Given the description of an element on the screen output the (x, y) to click on. 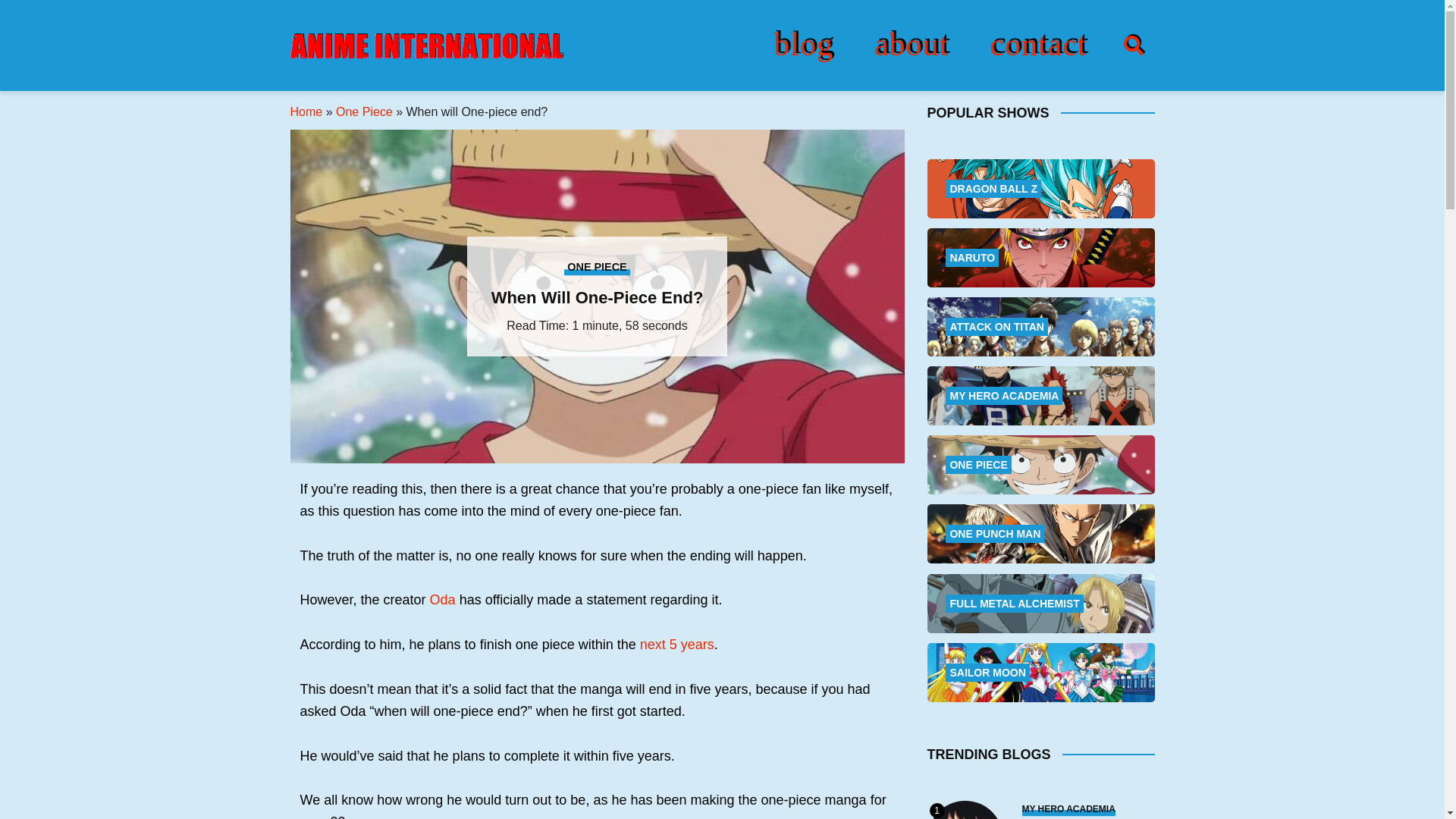
about (911, 44)
contact (1037, 44)
next 5 years (677, 644)
ONE PIECE (597, 266)
Home (305, 111)
SEARCH ICON (1133, 45)
One Piece (364, 111)
Oda (442, 599)
blog (802, 44)
